Given the description of an element on the screen output the (x, y) to click on. 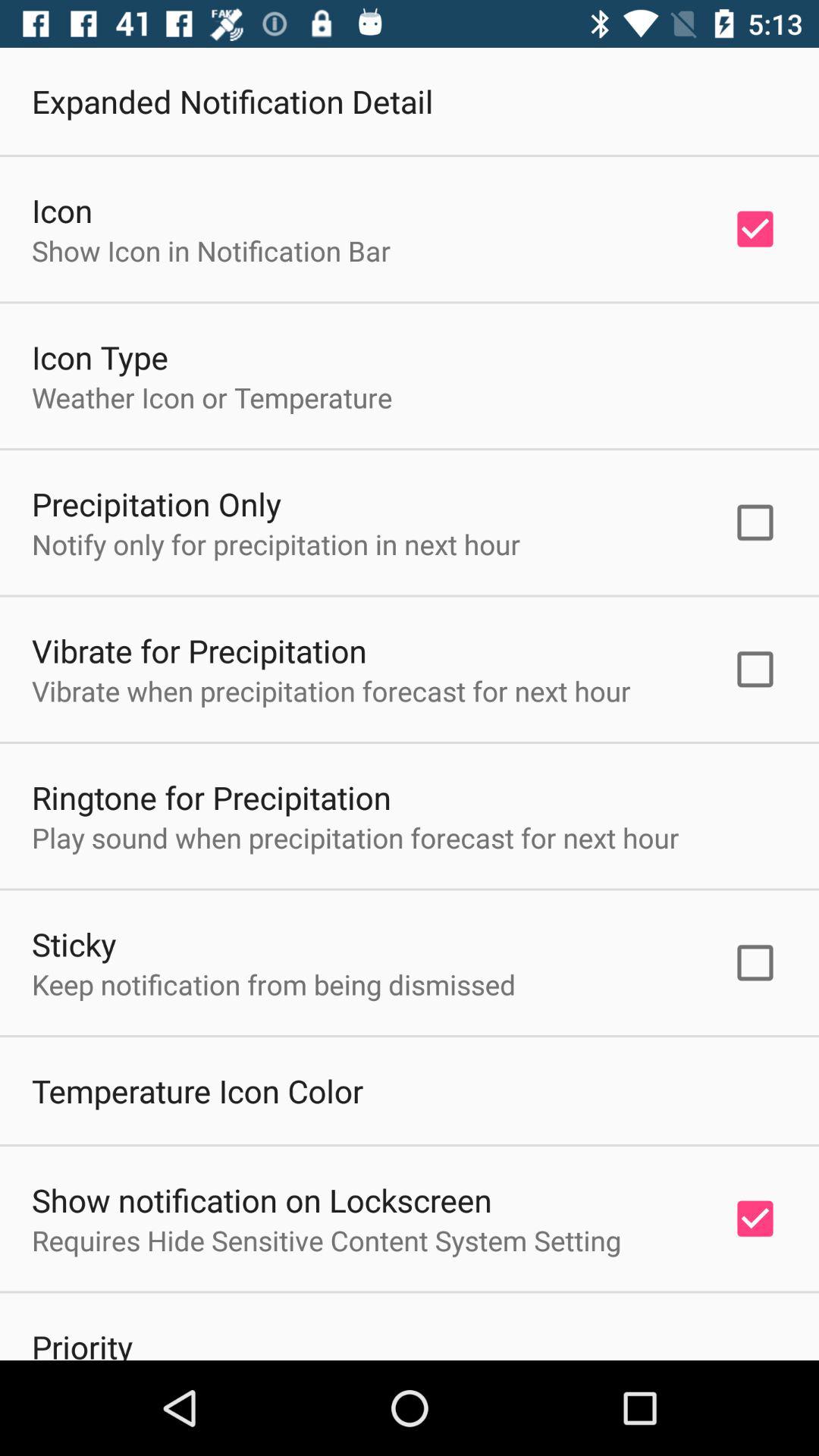
select the icon above the vibrate for precipitation icon (275, 544)
